Given the description of an element on the screen output the (x, y) to click on. 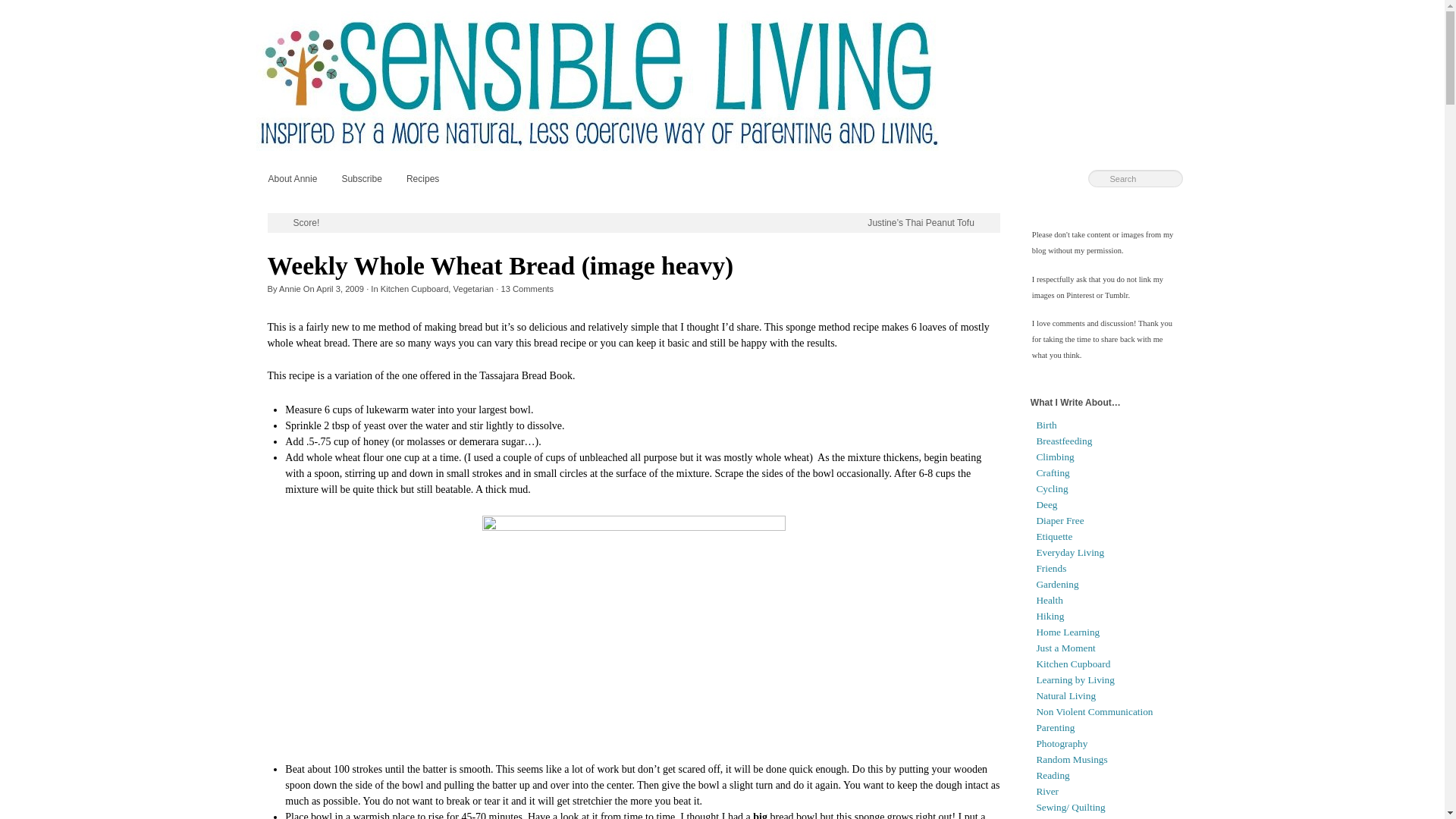
Annie (290, 288)
Crafting (1051, 472)
13 Comments (526, 288)
Climbing (1054, 456)
Score! (296, 223)
Deeg (1046, 504)
Vegetarian (473, 288)
Sensible Living (722, 80)
Subscribe (361, 178)
Kitchen Cupboard (414, 288)
Birth (1046, 424)
Posts by Annie (290, 288)
Cycling (1051, 488)
Recipes (422, 178)
Breastfeeding (1063, 440)
